Given the description of an element on the screen output the (x, y) to click on. 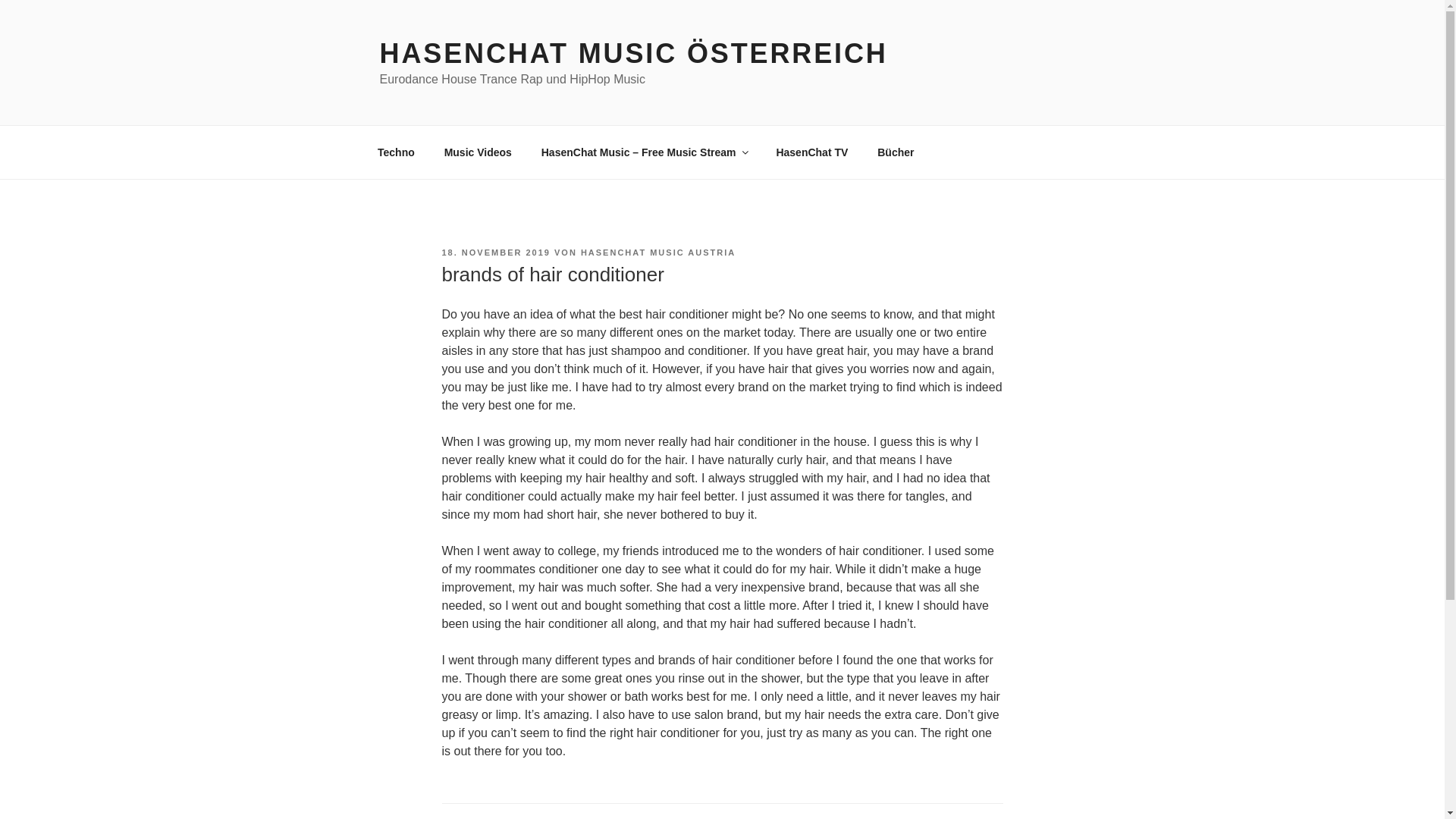
HasenChat TV (811, 151)
18. NOVEMBER 2019 (495, 252)
HASENCHAT MUSIC AUSTRIA (657, 252)
Techno (396, 151)
Music Videos (477, 151)
